Given the description of an element on the screen output the (x, y) to click on. 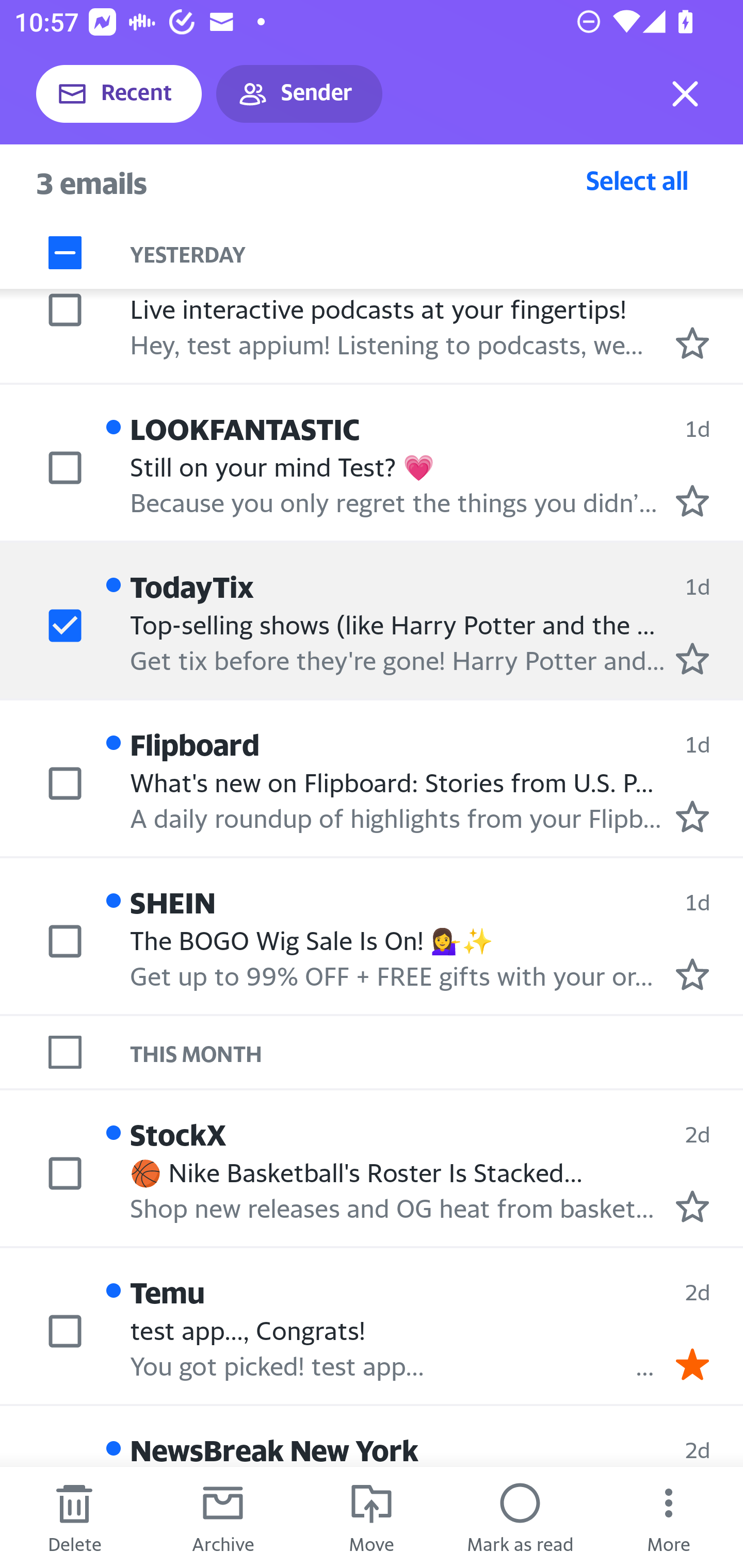
Sender (299, 93)
Exit selection mode (684, 93)
Select all (637, 180)
Mark as starred. (692, 342)
Mark as starred. (692, 500)
Mark as starred. (692, 659)
Mark as starred. (692, 816)
Mark as starred. (692, 974)
THIS MONTH (436, 1052)
Mark as starred. (692, 1206)
Remove star. (692, 1364)
Delete (74, 1517)
Archive (222, 1517)
Move (371, 1517)
Mark as read (519, 1517)
More (668, 1517)
